Given the description of an element on the screen output the (x, y) to click on. 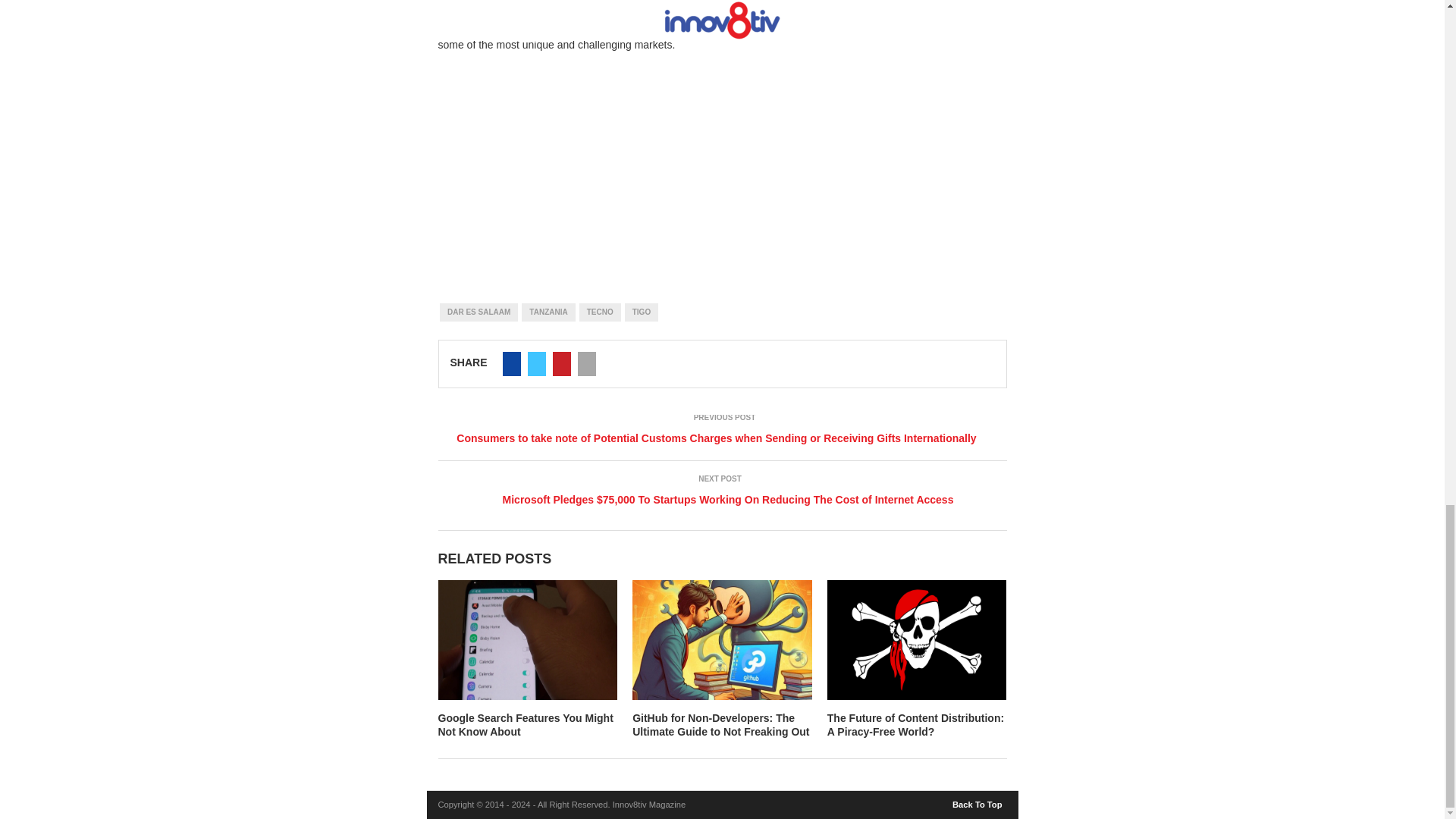
Back To Top (979, 801)
TECNO (600, 312)
TIGO (641, 312)
DAR ES SALAAM (478, 312)
3rd party ad content (721, 158)
TANZANIA (548, 312)
Google Search Features You Might Not Know About (525, 724)
The Future of Content Distribution: A Piracy-Free World? (915, 724)
